Given the description of an element on the screen output the (x, y) to click on. 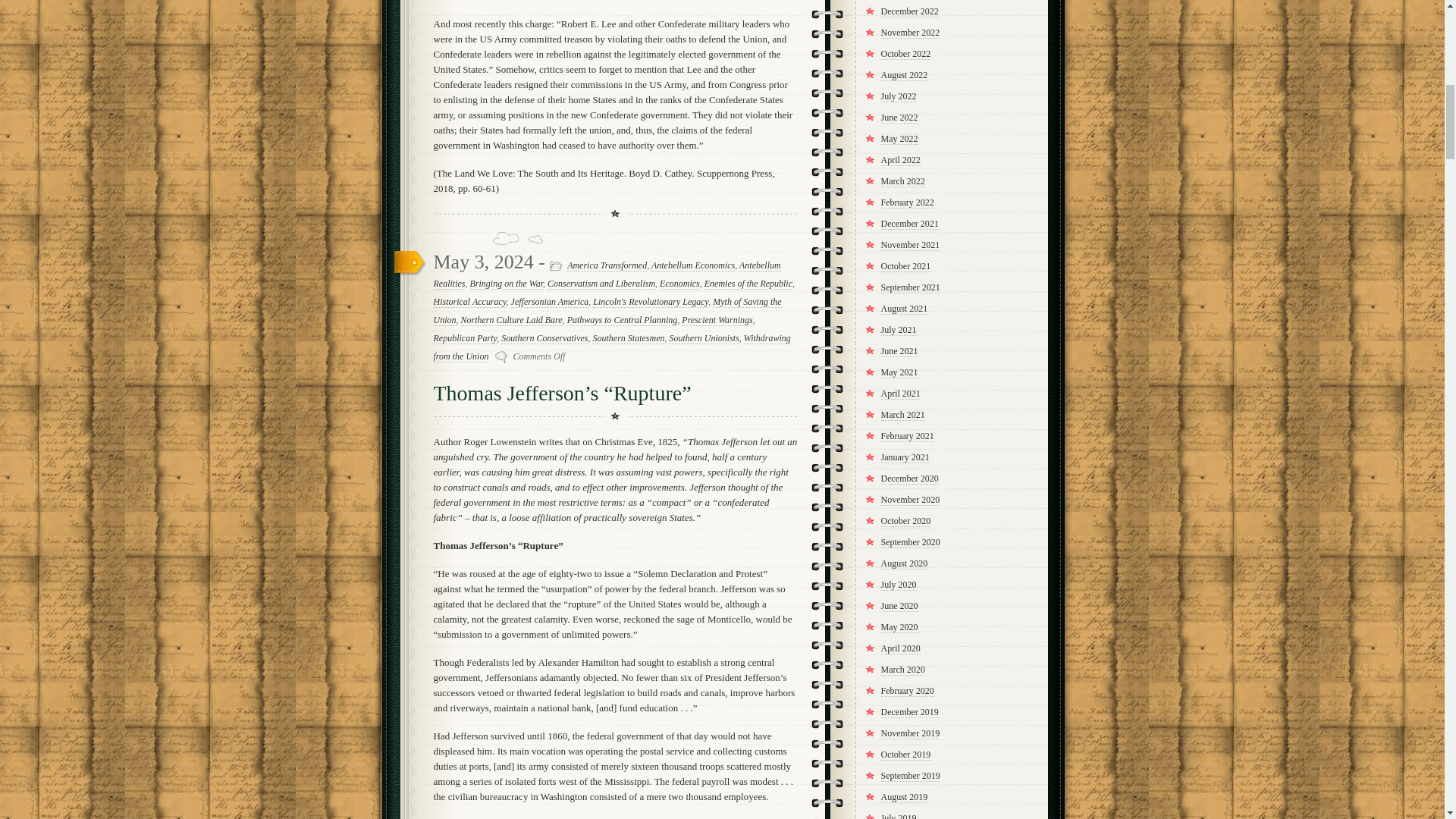
Republican Party (465, 337)
Northern Culture Laid Bare (511, 319)
Conservatism and Liberalism (601, 283)
Antebellum Realities (606, 274)
America Transformed (606, 265)
Pathways to Central Planning (622, 319)
Withdrawing from the Union (611, 347)
Jeffersonian America (550, 301)
Southern Conservatives (544, 337)
Southern Unionists (703, 337)
Historical Accuracy (469, 301)
Enemies of the Republic (748, 283)
Prescient Warnings (716, 319)
Southern Statesmen (627, 337)
Bringing on the War (506, 283)
